Given the description of an element on the screen output the (x, y) to click on. 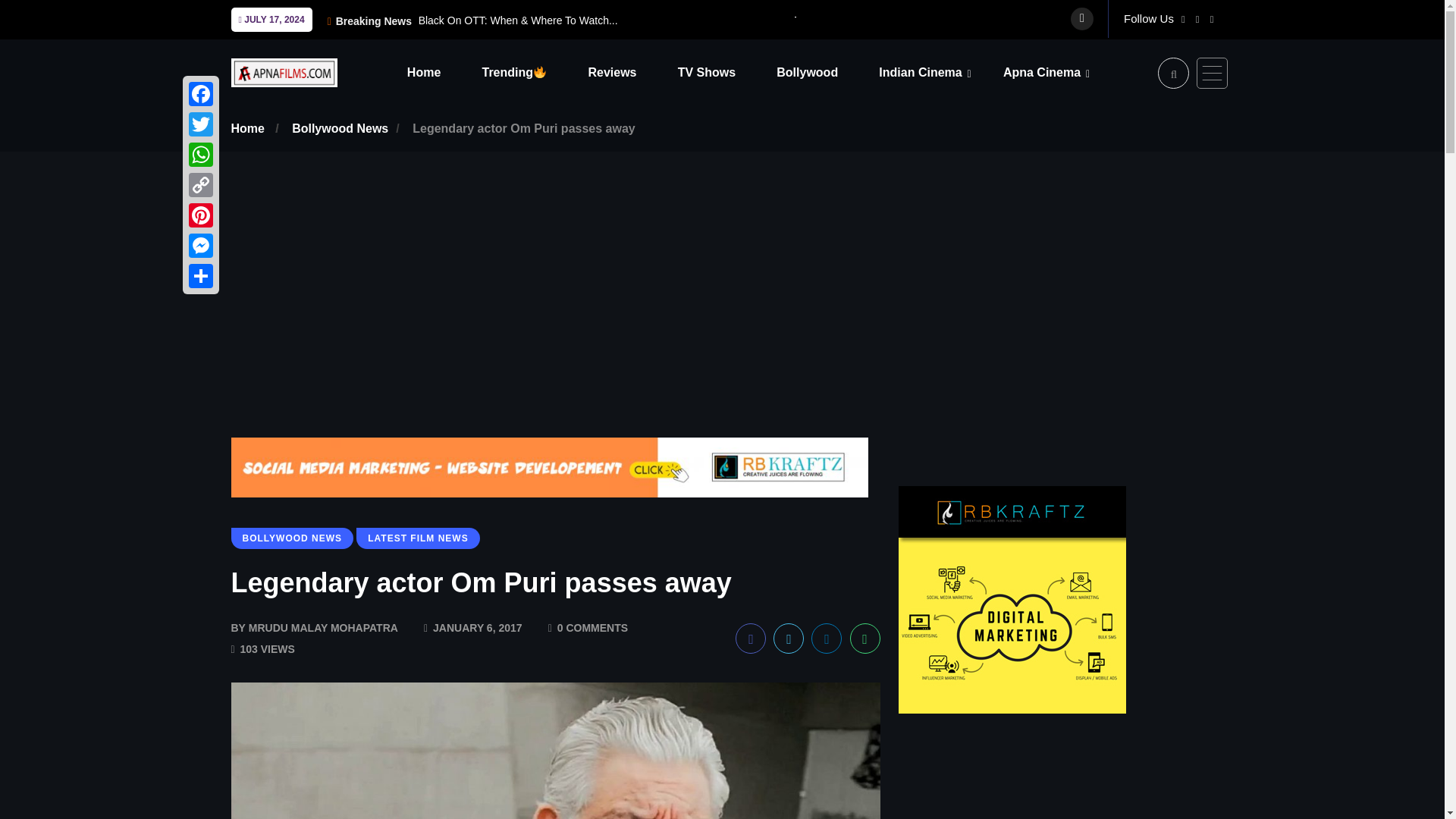
Apna Cinema (1060, 72)
Teri Baaton Mein Aisa Uljha Jiya Box Office:... (902, 20)
Reviews (631, 72)
Tamil Cinema (973, 113)
Home (443, 72)
Indian Cinema (938, 72)
Devotional (1097, 113)
Bollywood (826, 72)
Trending (533, 72)
TV Shows (725, 72)
Legendary actor Om Puri passes away 1 (554, 750)
